Given the description of an element on the screen output the (x, y) to click on. 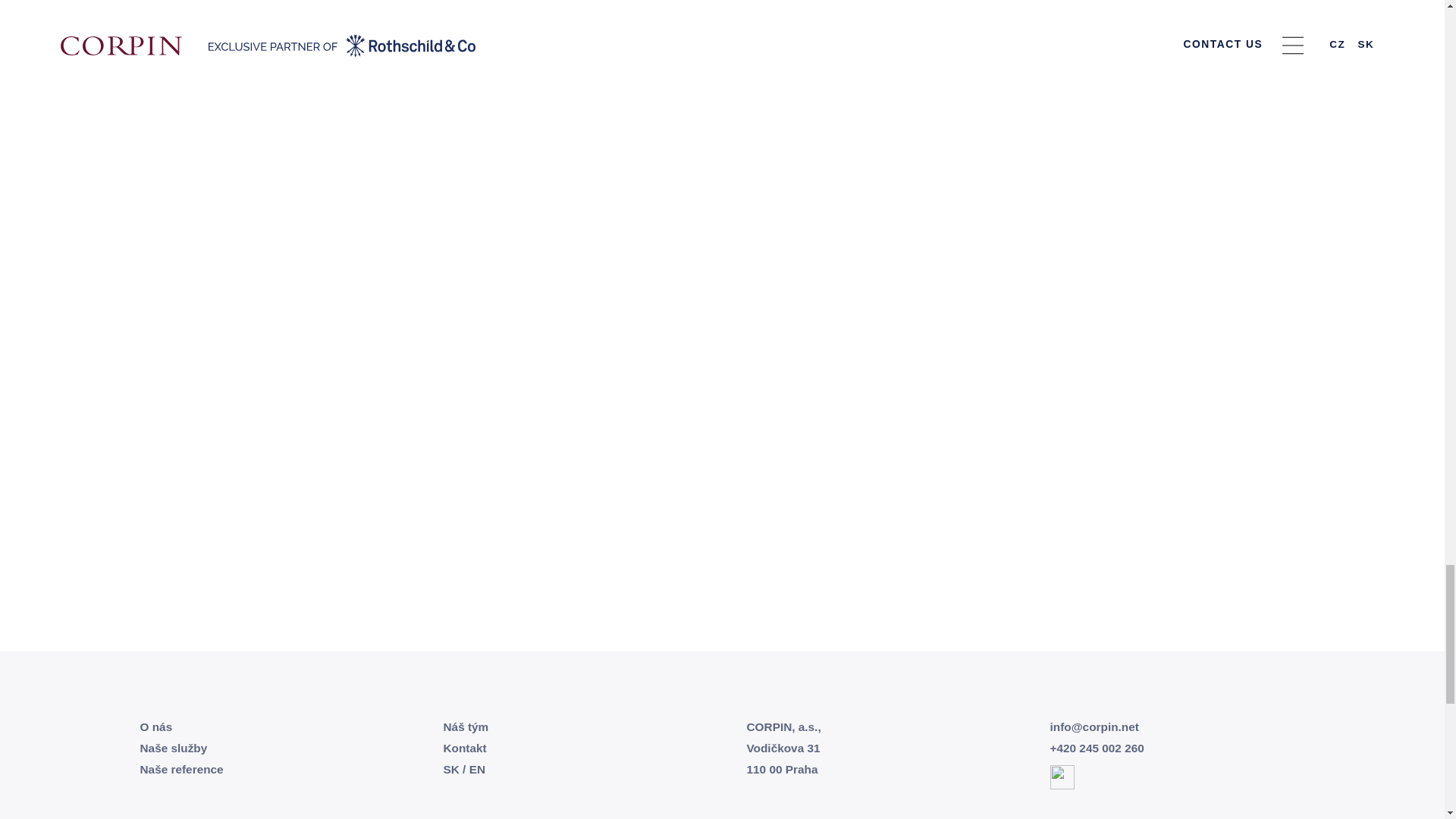
SK (450, 768)
Kontakt (464, 748)
EN (476, 768)
